Given the description of an element on the screen output the (x, y) to click on. 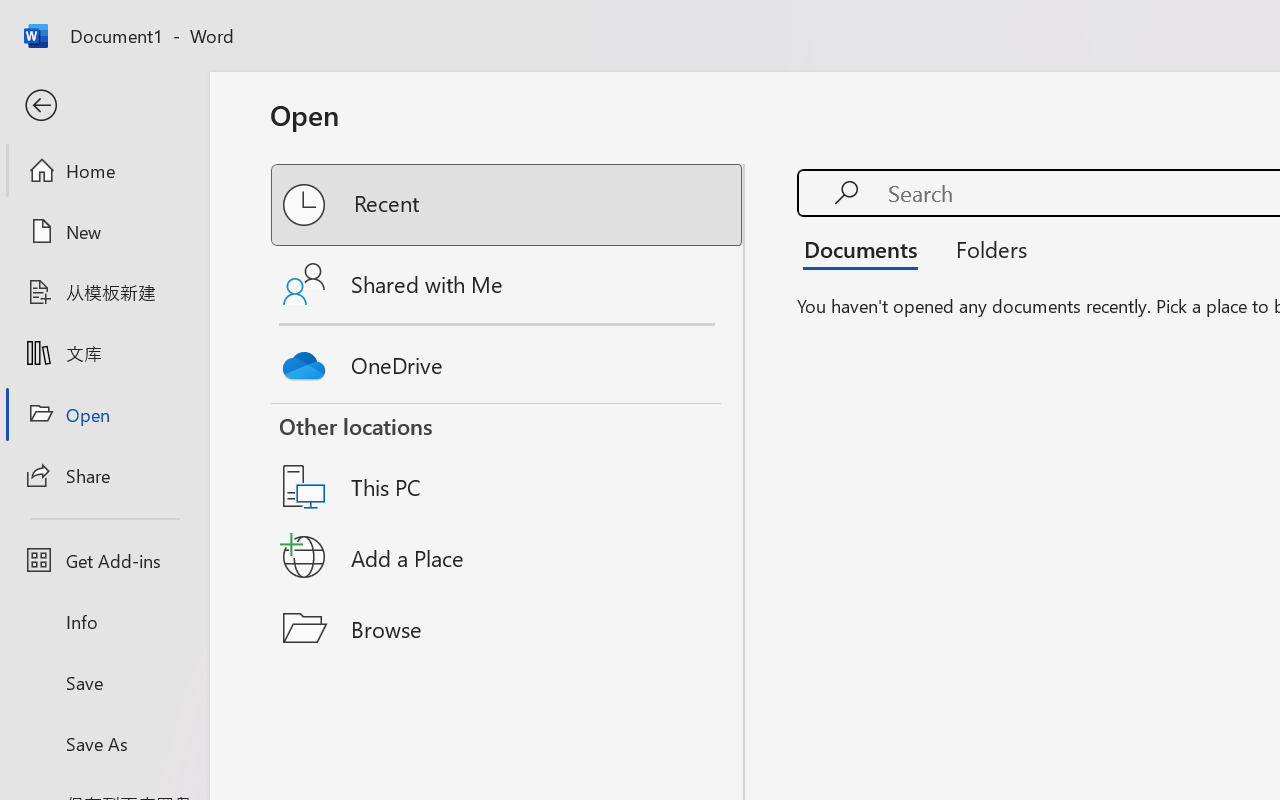
Save As (104, 743)
Get Add-ins (104, 560)
Documents (866, 248)
This PC (507, 461)
OneDrive (507, 359)
Browse (507, 627)
Back (104, 106)
Add a Place (507, 557)
Folders (984, 248)
